Given the description of an element on the screen output the (x, y) to click on. 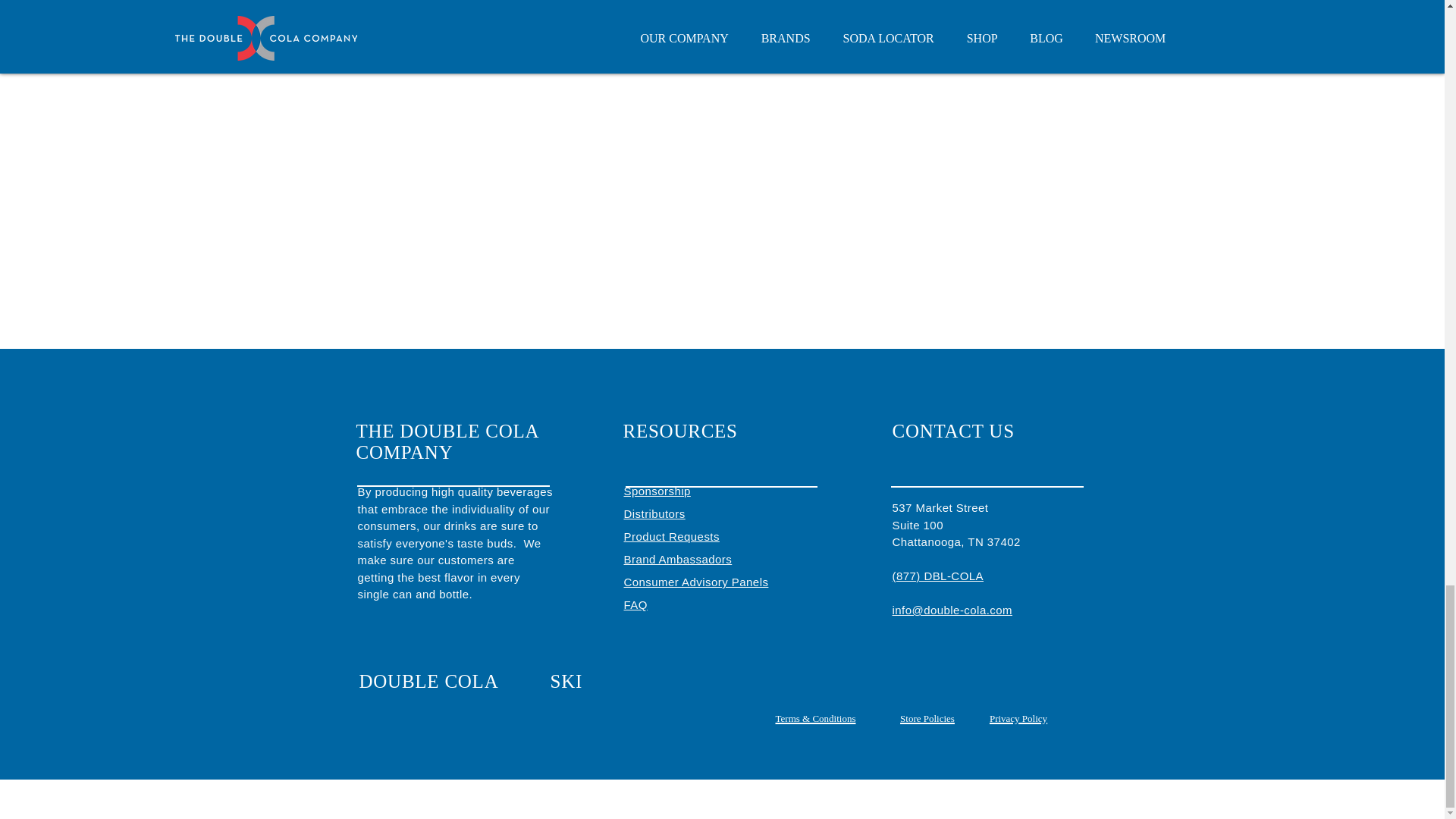
Brand Ambassadors (677, 558)
FAQ (634, 604)
Sponsorship (656, 490)
CONTACT US (952, 430)
Product Requests (671, 535)
Consumer Advisory Panels (695, 581)
Distributors (653, 513)
